Given the description of an element on the screen output the (x, y) to click on. 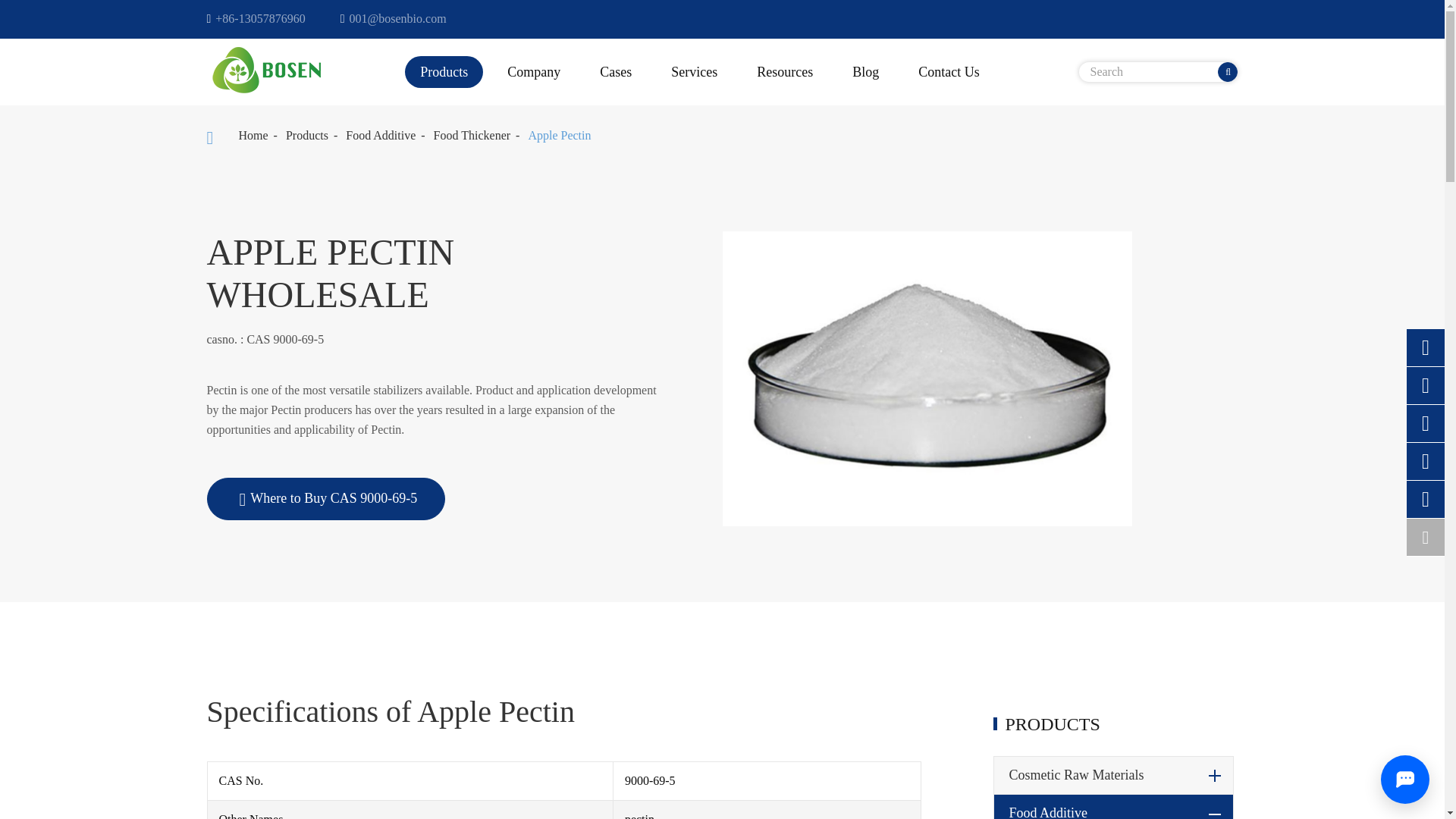
soluble saccharin (926, 378)
Food Thickener (472, 134)
Xi'an Bosen Bio-Tech Co., Ltd. (263, 71)
Apple Pectin (559, 134)
Products (307, 134)
Products (443, 71)
Food Additive (380, 134)
